Given the description of an element on the screen output the (x, y) to click on. 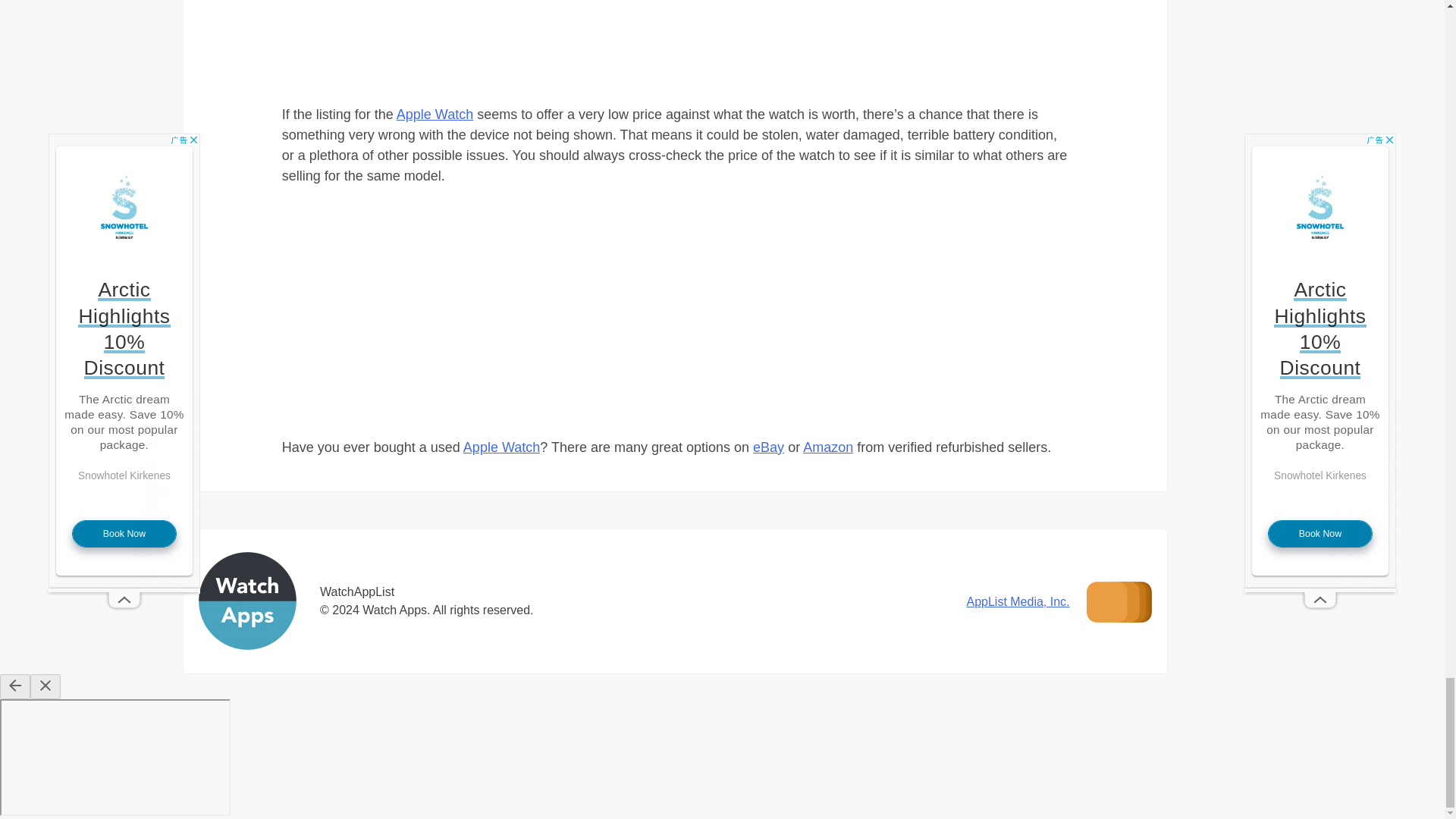
AppList Media, Inc. (1017, 601)
eBay (768, 447)
Apple Watch (501, 447)
Apple Watch (434, 114)
Amazon (828, 447)
